Given the description of an element on the screen output the (x, y) to click on. 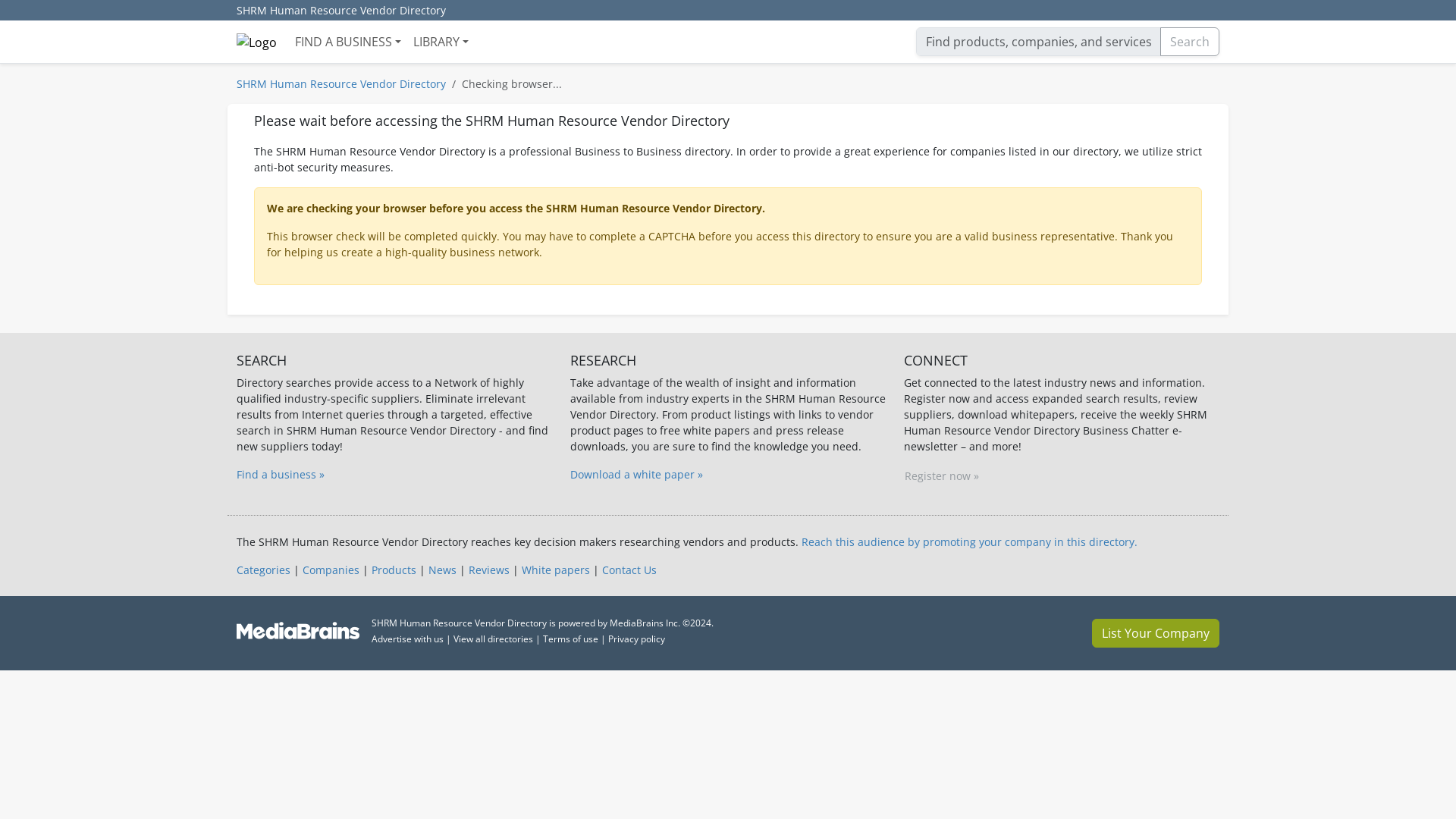
SHRM Human Resource Vendor Directory (340, 83)
Advertise with us (407, 638)
White papers (555, 569)
Companies (330, 569)
List Your Company (1156, 633)
LIBRARY (440, 41)
SHRM Human Resource Vendor Directory (341, 10)
Categories (262, 569)
Search (1190, 41)
View all directories (492, 638)
Privacy policy (636, 638)
Products (393, 569)
Terms of use (570, 638)
Contact Us (629, 569)
